Given the description of an element on the screen output the (x, y) to click on. 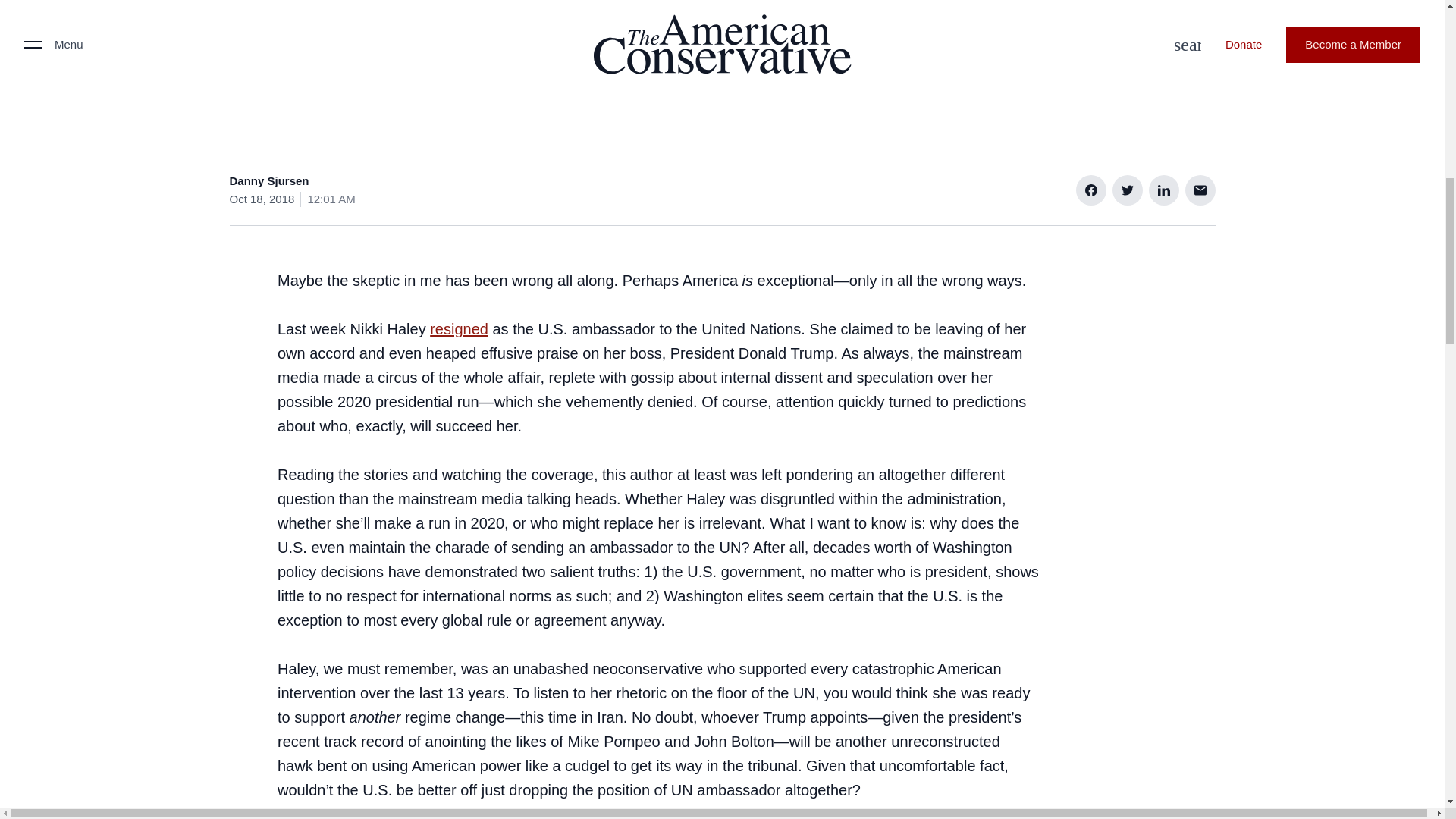
resigned (458, 329)
Danny Sjursen (268, 181)
